Given the description of an element on the screen output the (x, y) to click on. 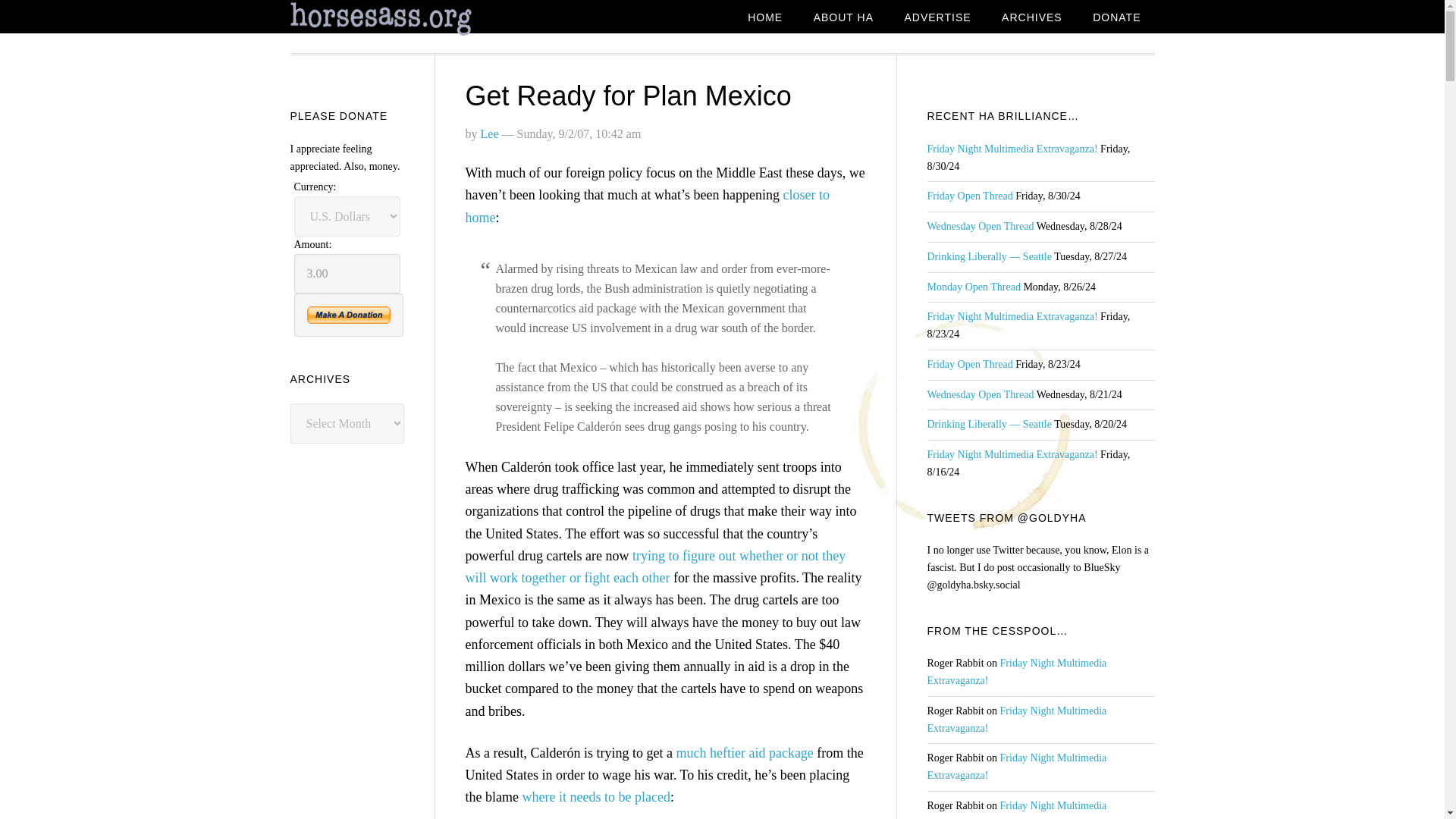
ABOUT HA (842, 17)
The amount you wish to donate (347, 273)
ADVERTISE (936, 17)
HOME (764, 17)
where it needs to be placed (595, 796)
Lee (489, 133)
HORSESASS.ORG (410, 19)
much heftier aid package (743, 752)
closer to home (647, 205)
